Given the description of an element on the screen output the (x, y) to click on. 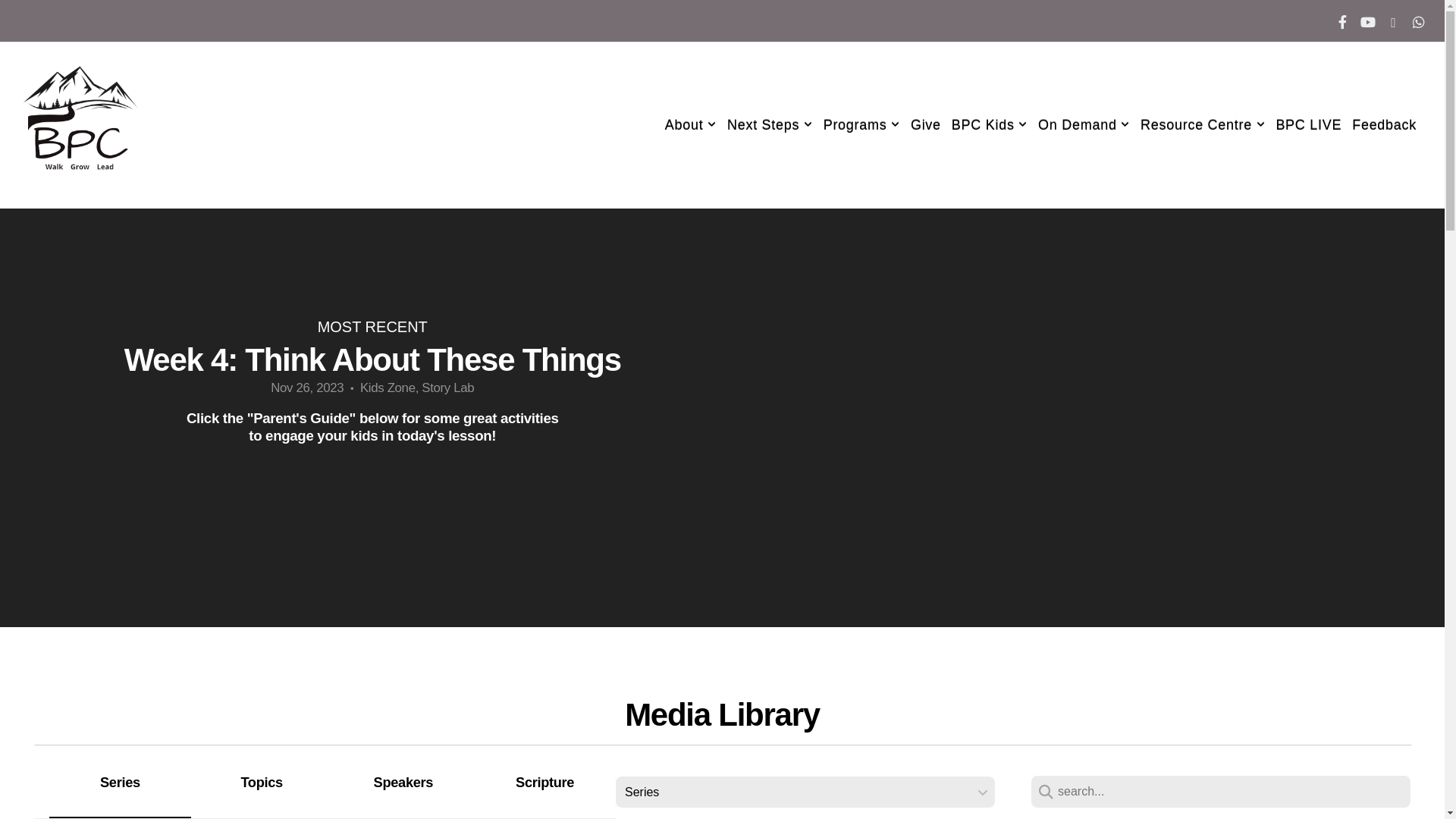
On Demand  Element type: text (1083, 124)
BPC LIVE Element type: text (1308, 124)
Speakers Element type: text (403, 791)
Topics Element type: text (261, 791)
Scripture Element type: text (544, 791)
Programs  Element type: text (861, 124)
Resource Centre  Element type: text (1202, 124)
Series Element type: text (120, 790)
BPC Kids  Element type: text (989, 124)
Give Element type: text (925, 124)
Next Steps  Element type: text (769, 124)
Feedback Element type: text (1384, 124)
About  Element type: text (690, 124)
